Given the description of an element on the screen output the (x, y) to click on. 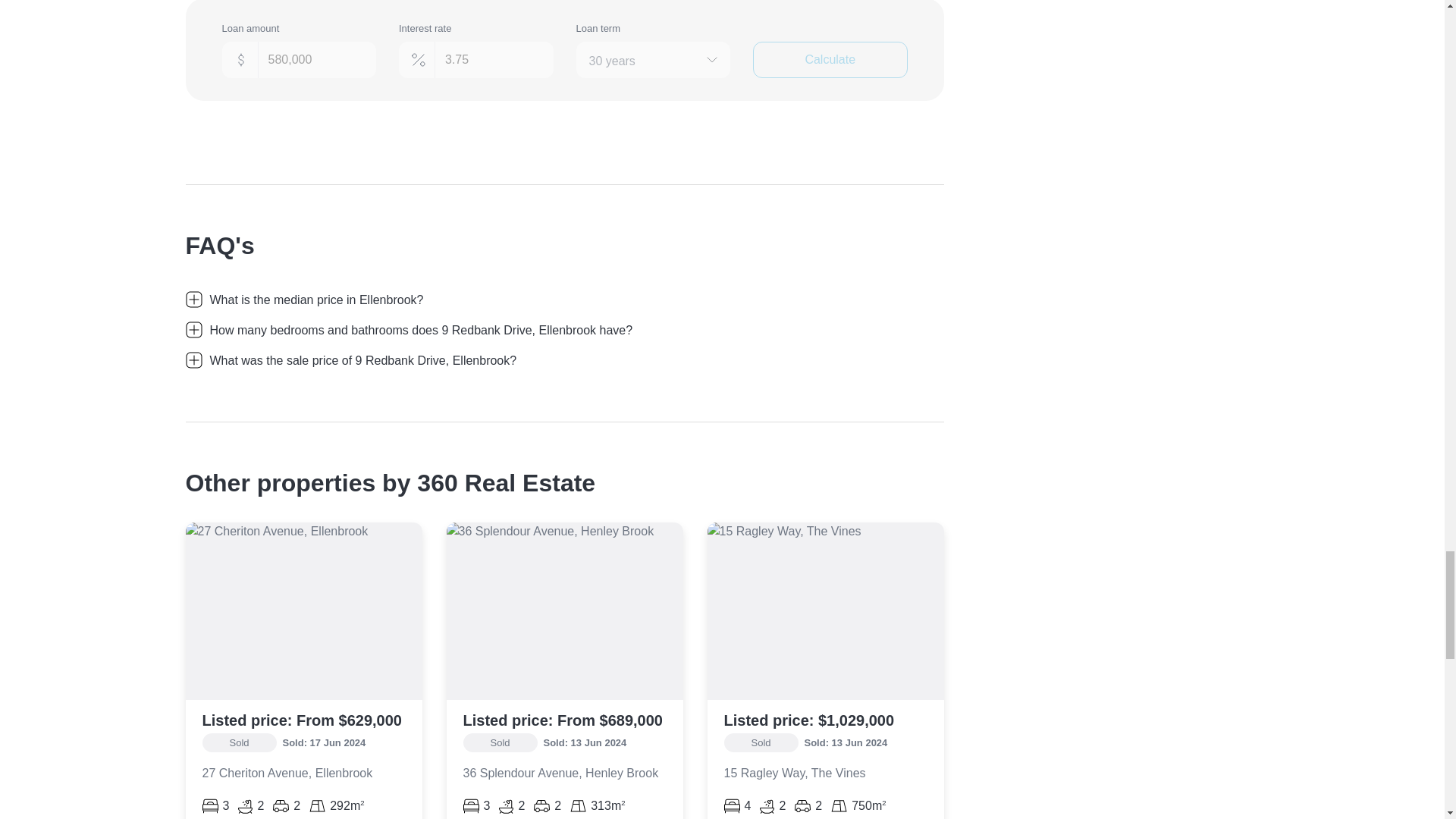
3.75 (475, 59)
580,000 (298, 59)
